Given the description of an element on the screen output the (x, y) to click on. 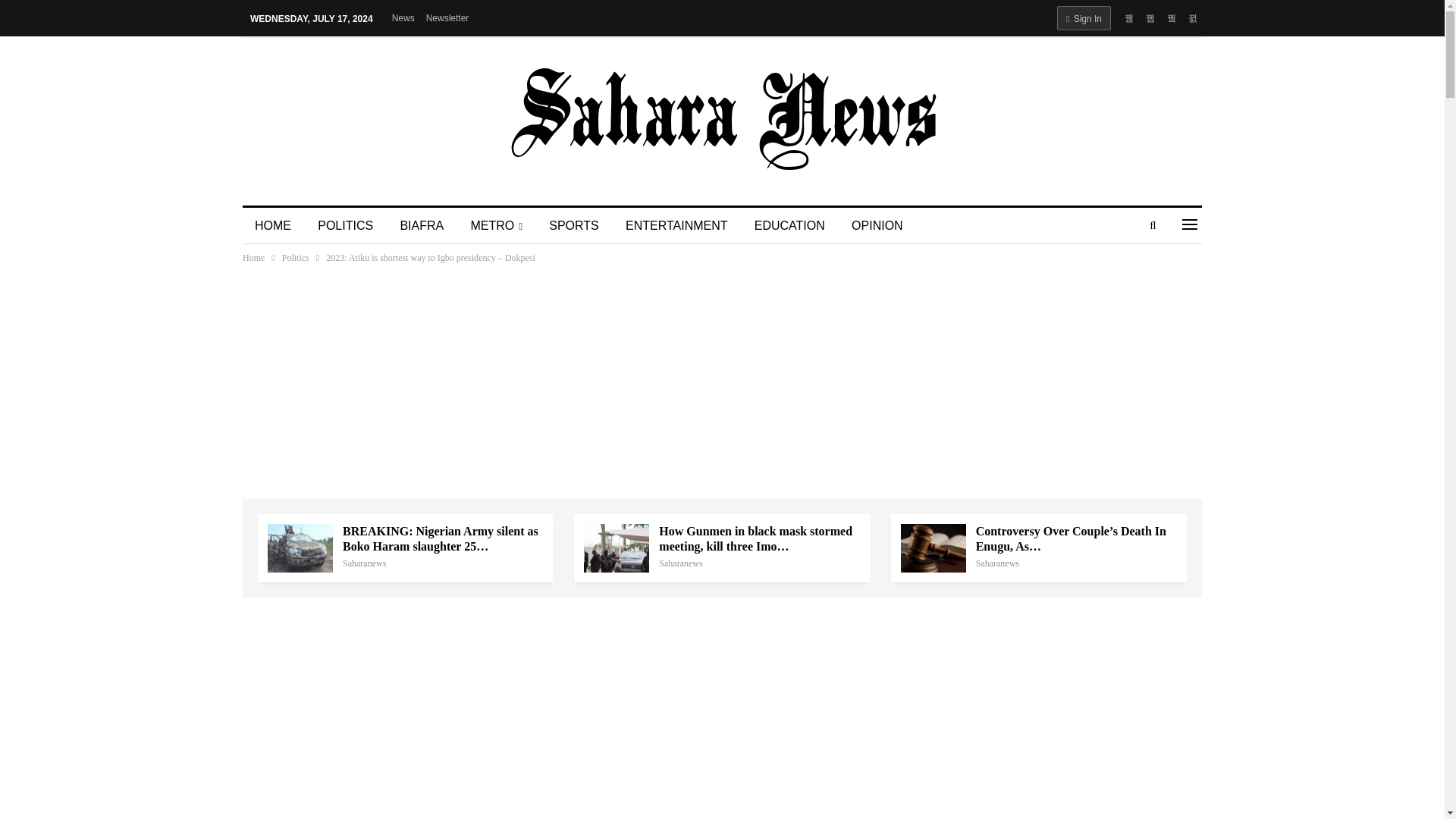
POLITICS (345, 226)
Sign In (1083, 17)
ENTERTAINMENT (675, 226)
BIAFRA (421, 226)
Browse Author Articles (363, 562)
Browse Author Articles (997, 562)
HOME (272, 226)
OPINION (877, 226)
Newsletter (447, 18)
Browse Author Articles (680, 562)
News (402, 18)
SPORTS (574, 226)
EDUCATION (789, 226)
